Given the description of an element on the screen output the (x, y) to click on. 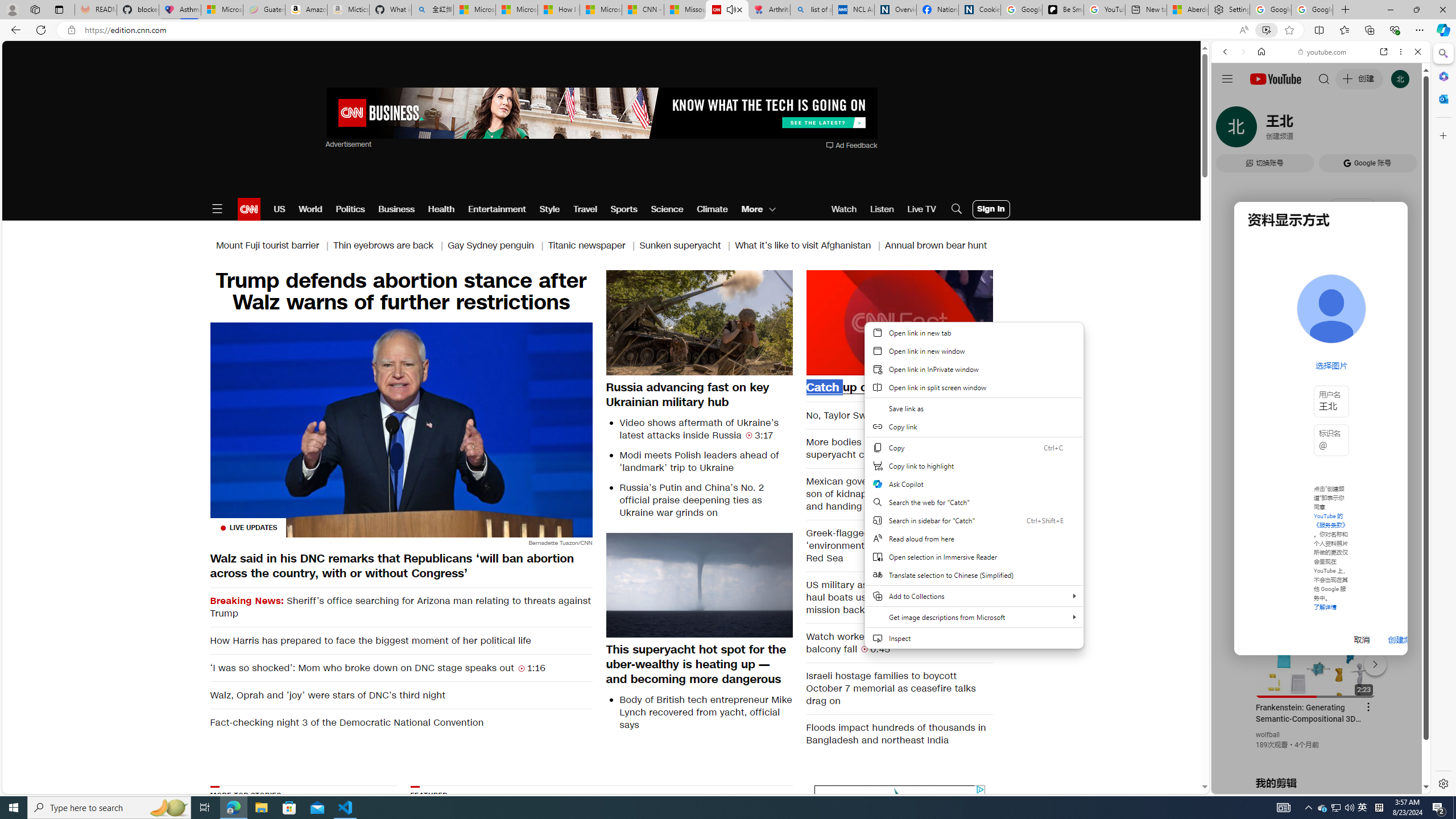
Trailer #2 [HD] (1320, 337)
Fullscreen (976, 365)
User Account Log In Button (991, 208)
Open link in split screen window (973, 387)
Search Filter, VIDEOS (1300, 129)
Fact-checking night 3 of the Democratic National Convention (400, 721)
